Given the description of an element on the screen output the (x, y) to click on. 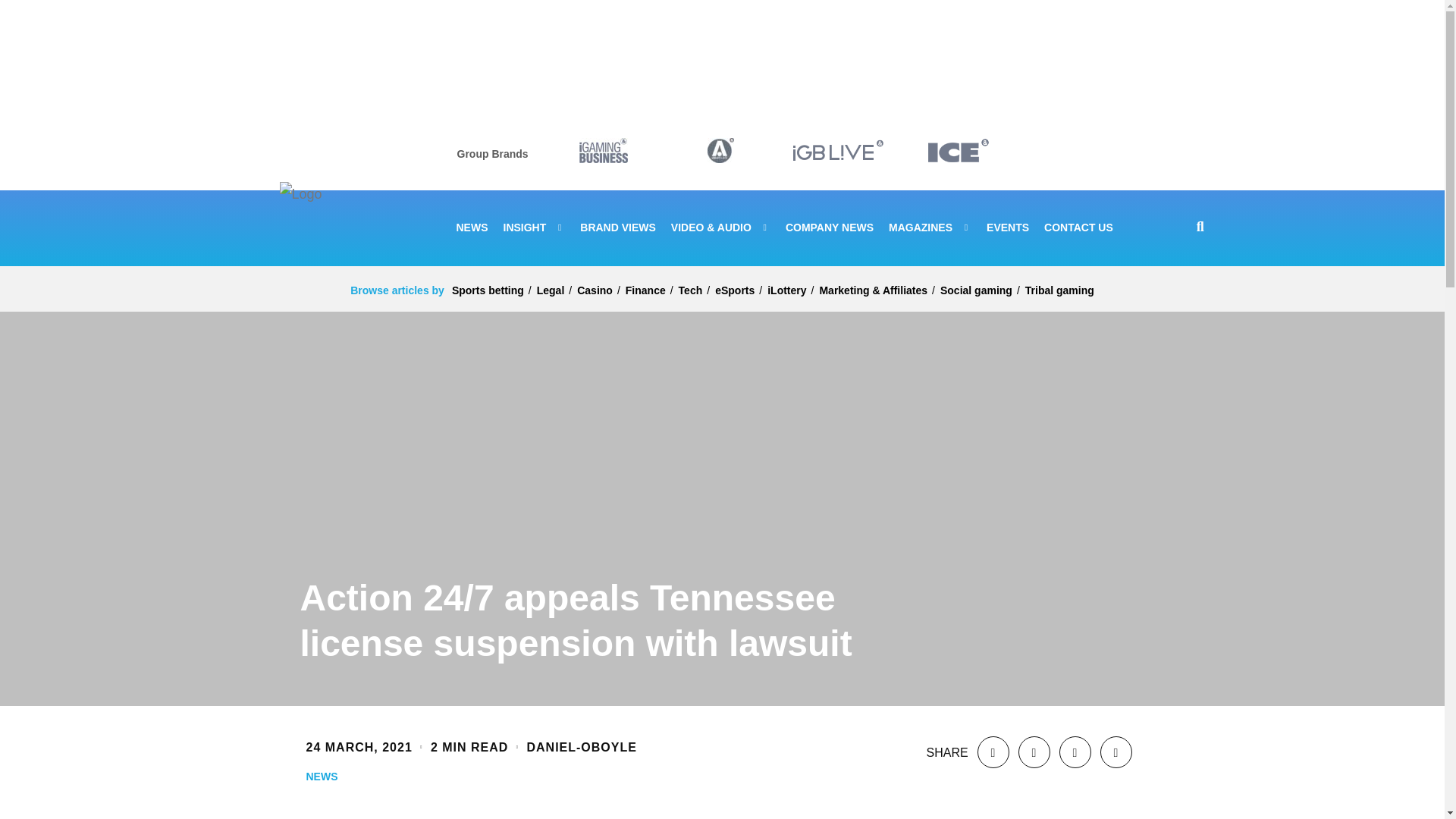
Sports betting (487, 290)
Tribal gaming (1059, 290)
BRAND VIEWS (617, 227)
COMPANY NEWS (829, 227)
MAGAZINES (929, 227)
CONTACT US (1078, 227)
Legal (550, 290)
EVENTS (1008, 227)
Casino (594, 290)
iLottery (786, 290)
